Given the description of an element on the screen output the (x, y) to click on. 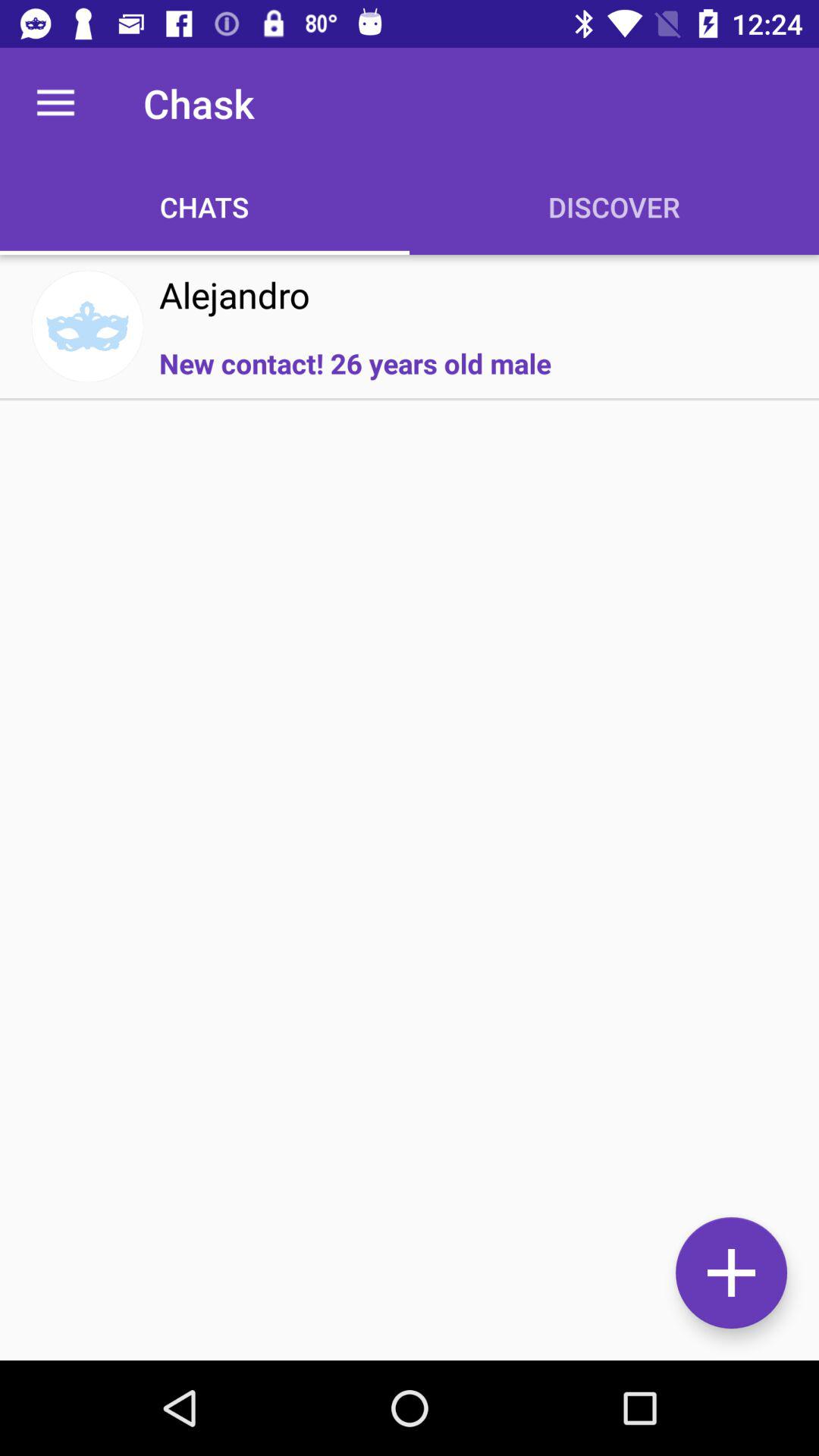
launch icon to the left of the alejandro item (87, 326)
